Given the description of an element on the screen output the (x, y) to click on. 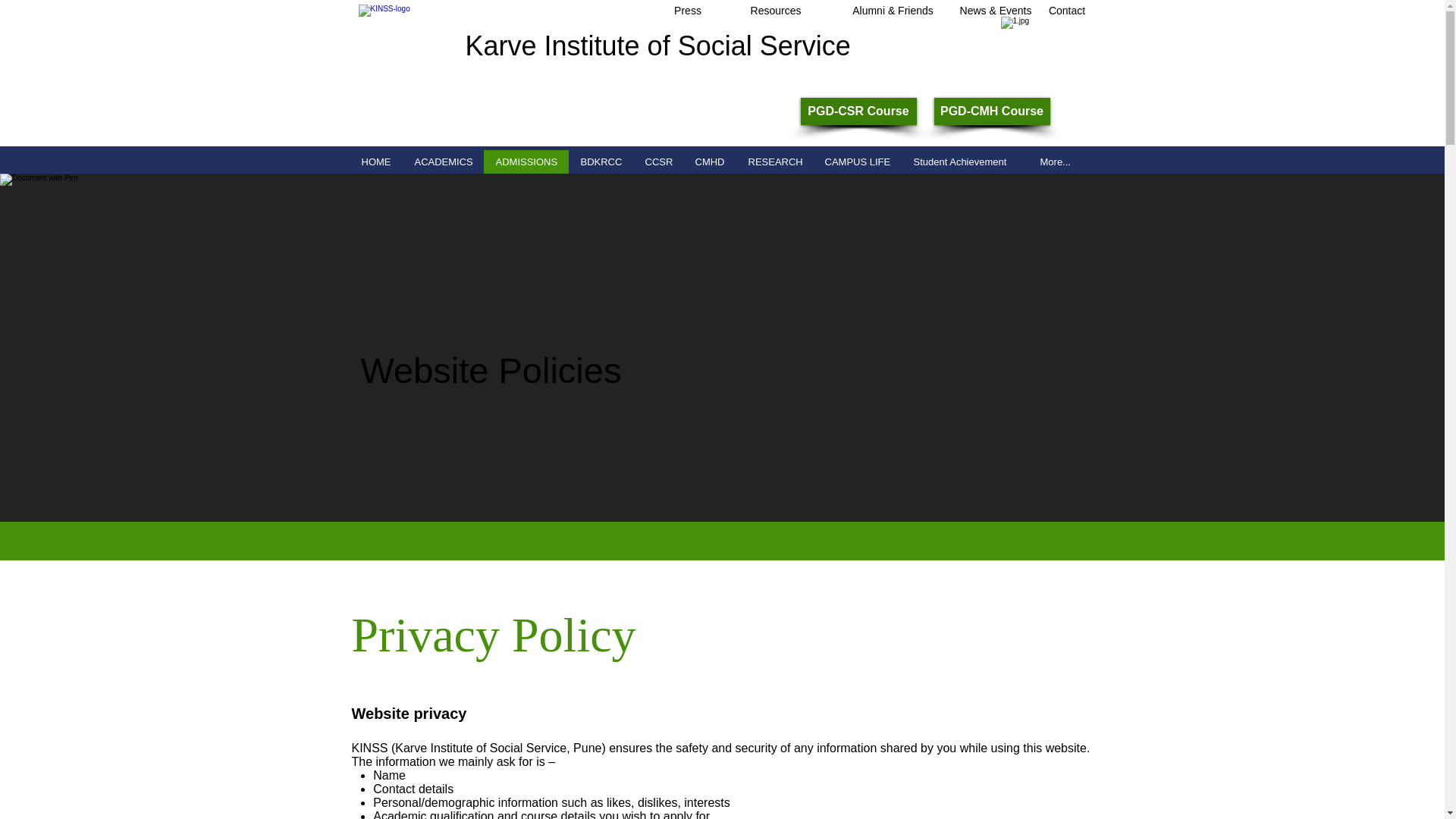
Resources (776, 10)
PGD-CSR Course (858, 111)
CCSR (656, 161)
PGD-CMH Course (991, 111)
HOME (375, 161)
Contact (1066, 10)
ADMISSIONS (526, 161)
Press (687, 10)
ACADEMICS (442, 161)
CMHD (708, 161)
CAMPUS LIFE (856, 161)
BDKRCC (601, 161)
RESEARCH (773, 161)
